Given the description of an element on the screen output the (x, y) to click on. 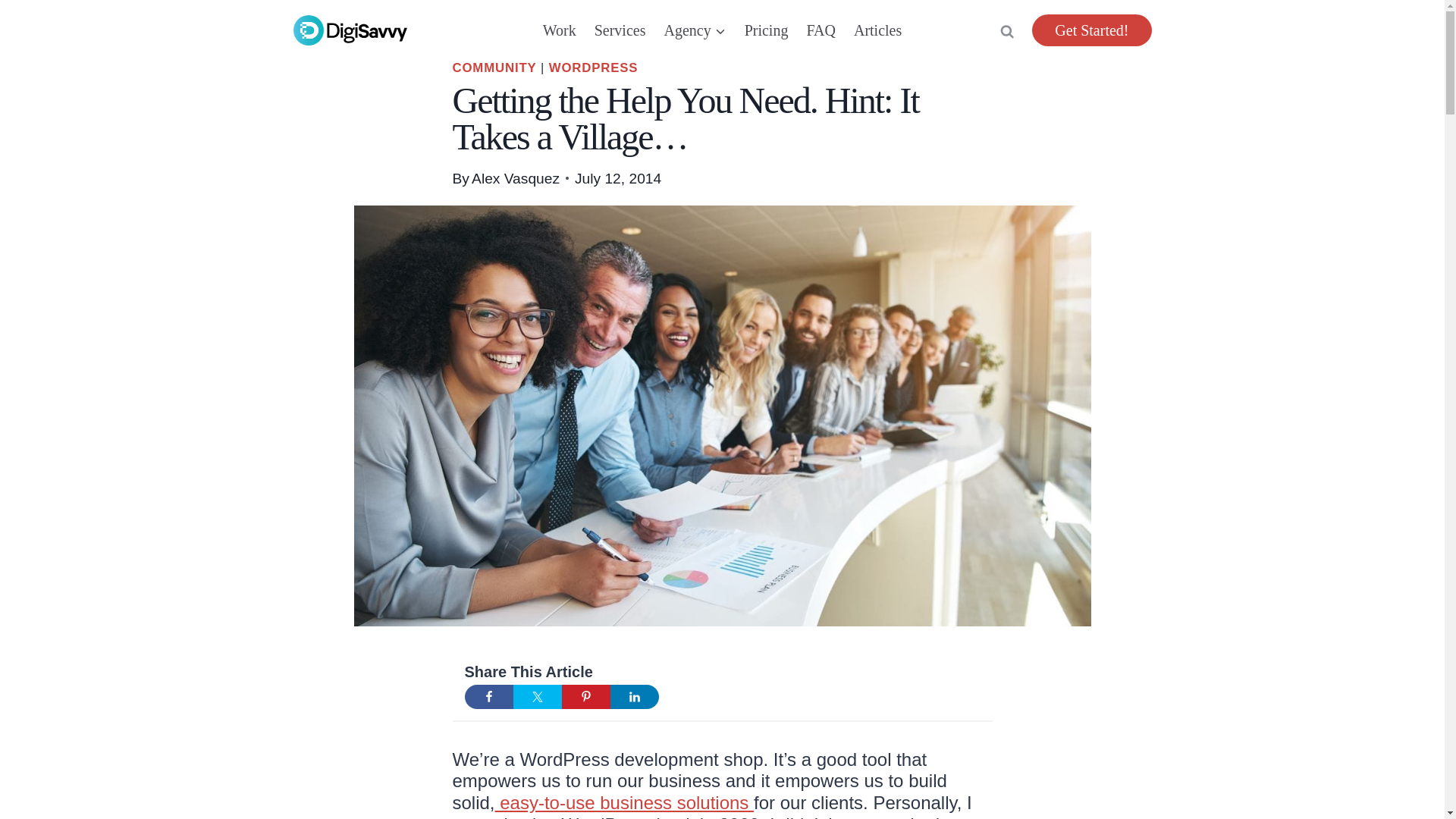
Agency (694, 30)
WordPress for Business (624, 802)
Alex Vasquez (515, 178)
Articles (877, 30)
Share on Pinterest (585, 696)
FAQ (820, 30)
Work (559, 30)
Share on Twitter (536, 696)
Share on Facebook (488, 696)
WORDPRESS (593, 67)
COMMUNITY (493, 67)
Get Started! (1091, 29)
easy-to-use business solutions (624, 802)
Services (620, 30)
Pricing (766, 30)
